Given the description of an element on the screen output the (x, y) to click on. 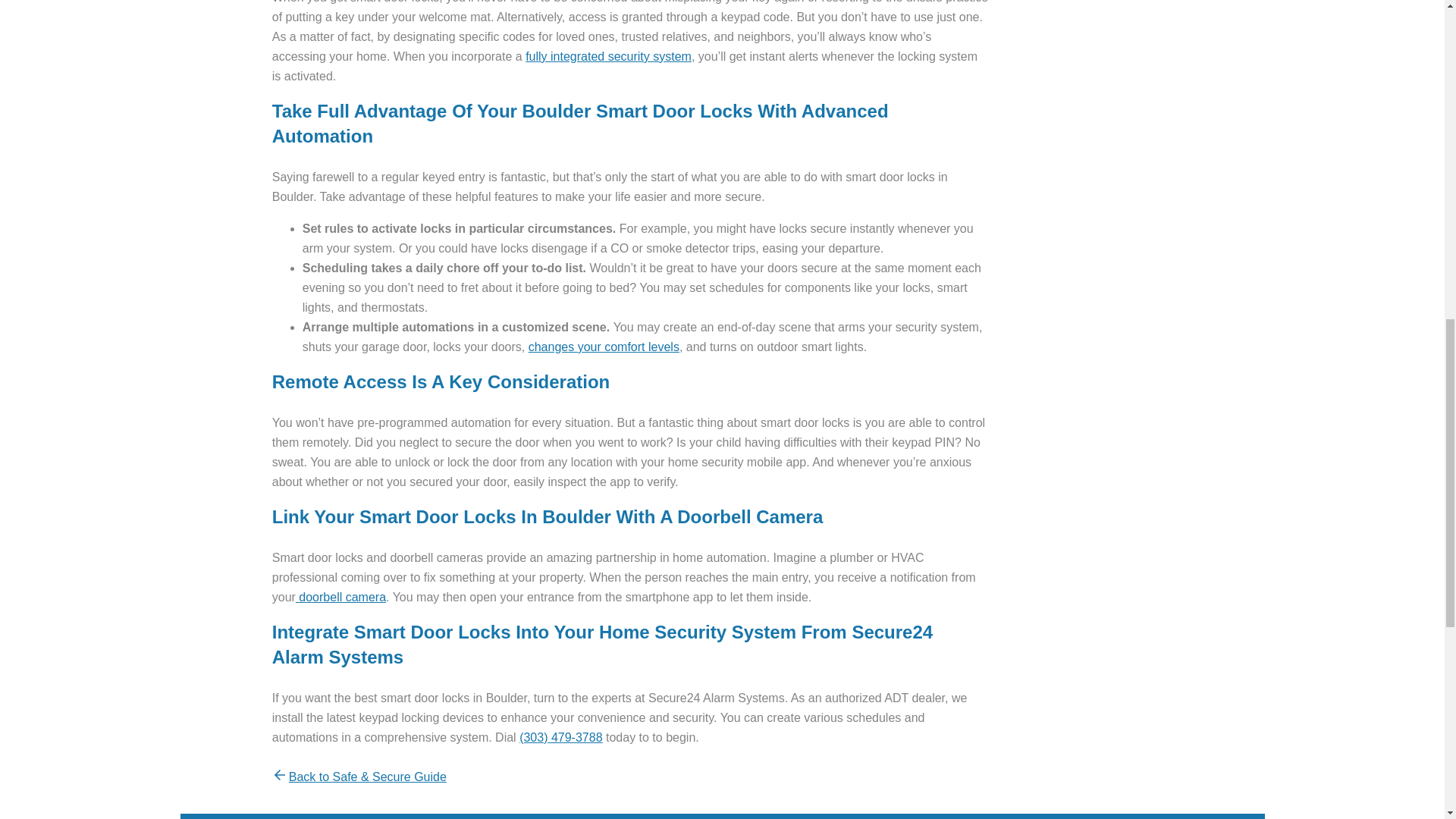
Fully integrated security system (608, 56)
Doorbell camera in Boulder (340, 596)
Adjusts your thermostat (603, 346)
